Given the description of an element on the screen output the (x, y) to click on. 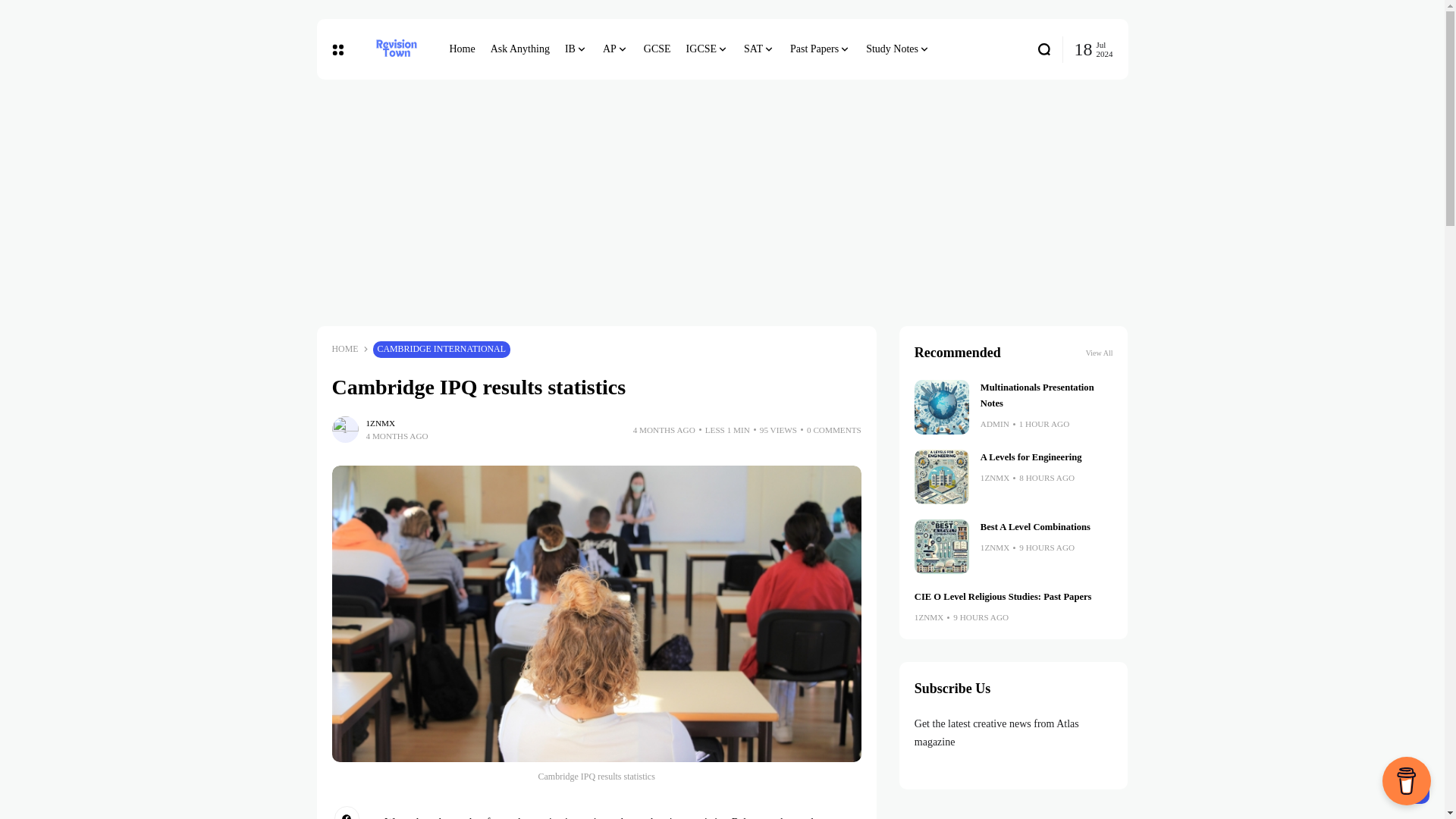
Best A Level Combinations (941, 546)
Posts by Admin (994, 423)
Posts by 1znmx (994, 477)
RivisionTown (395, 49)
AP (615, 48)
Posts by 1znmx (379, 422)
IGCSE (707, 48)
IB (576, 48)
Multinationals Presentation Notes (941, 407)
GCSE (657, 48)
Home (461, 48)
A Levels for Engineering (941, 476)
Ask Anything (520, 48)
